Given the description of an element on the screen output the (x, y) to click on. 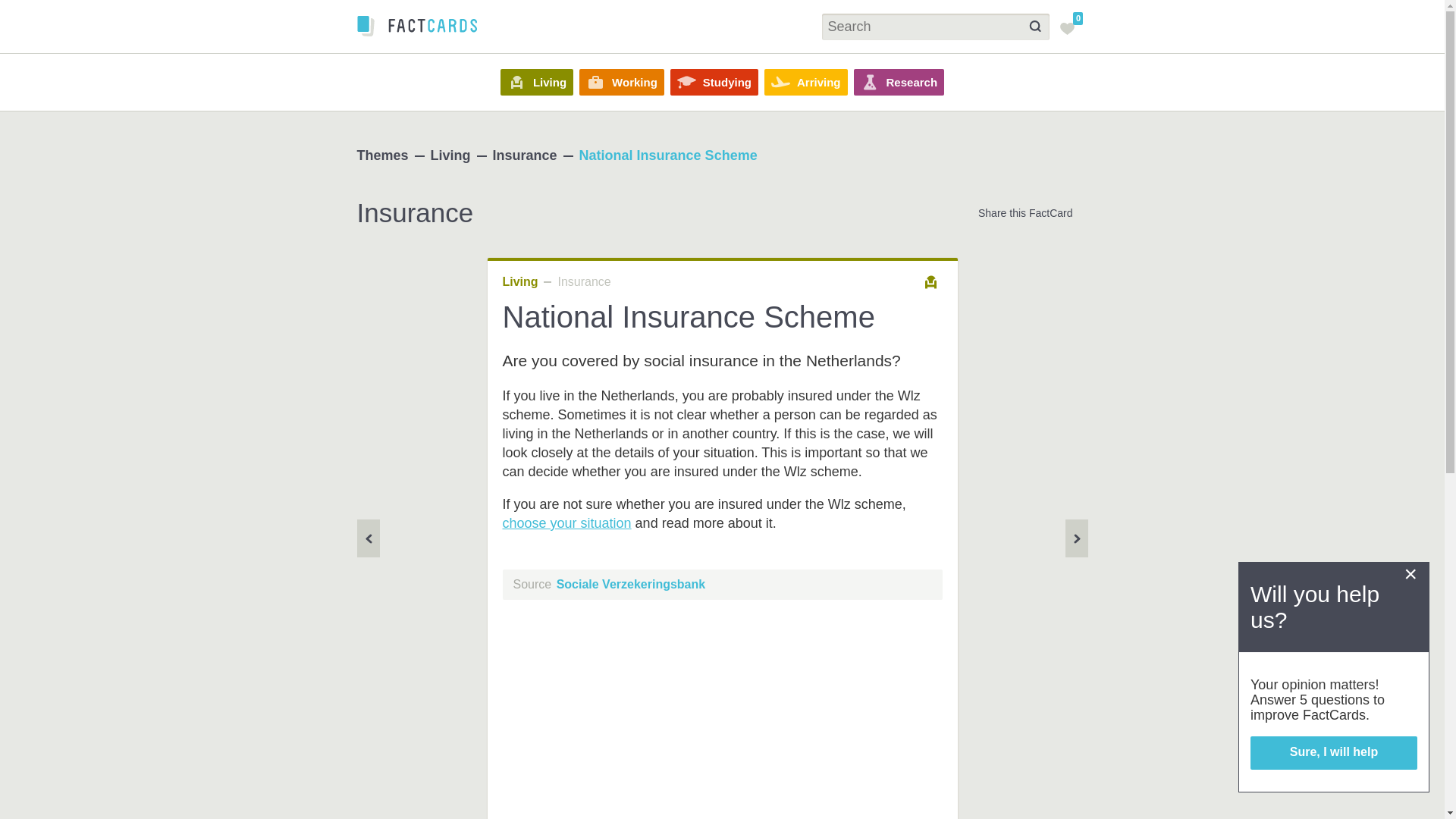
Open in new window (647, 375)
Studying (713, 81)
Open in new window (566, 522)
Open in new window (858, 349)
Open in new window (631, 584)
Open in new window (644, 356)
Working (621, 81)
Living (536, 81)
